Given the description of an element on the screen output the (x, y) to click on. 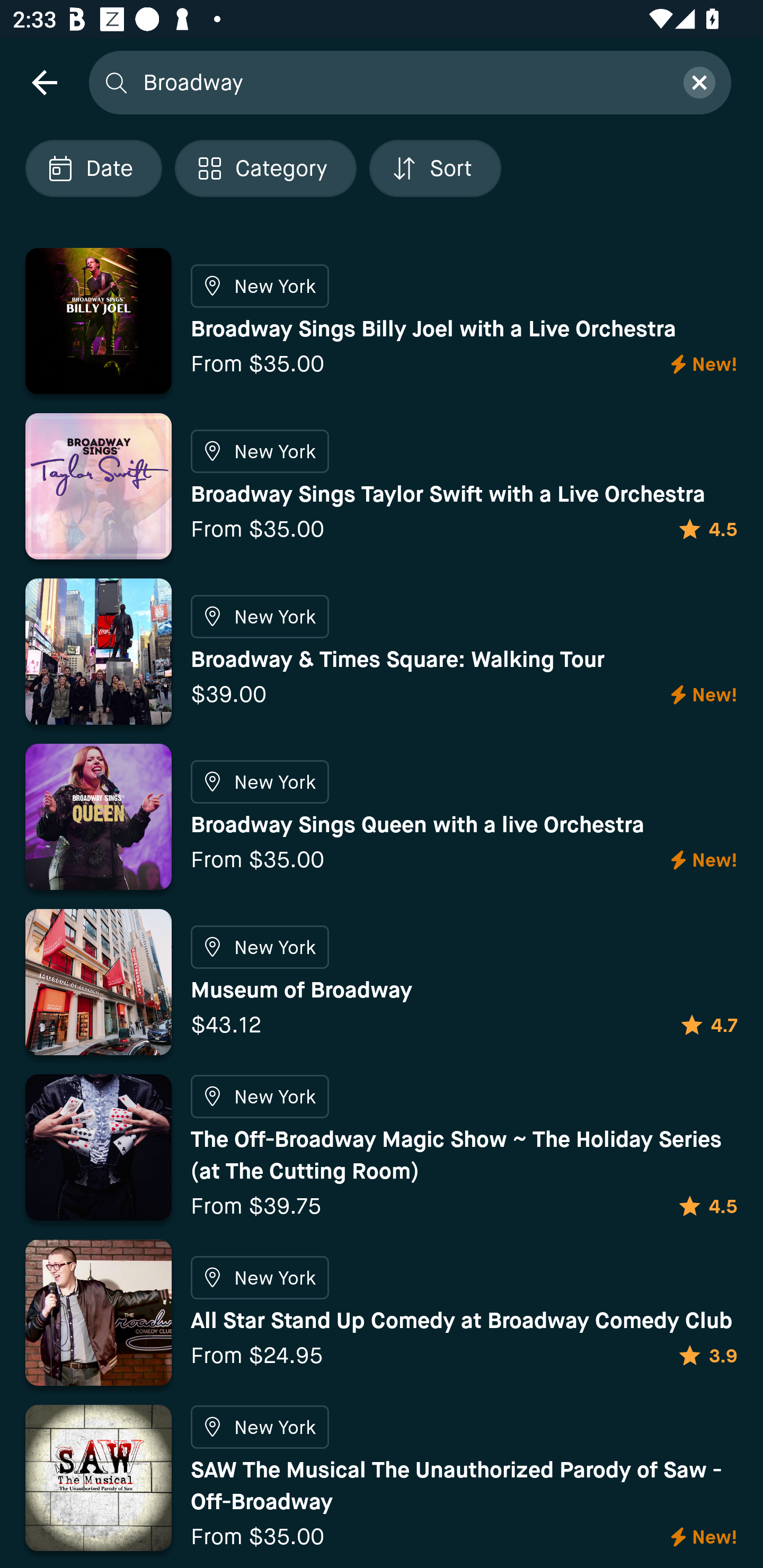
navigation icon (44, 81)
Broadway (402, 81)
Localized description Date (93, 168)
Localized description Category (265, 168)
Localized description Sort (435, 168)
